Given the description of an element on the screen output the (x, y) to click on. 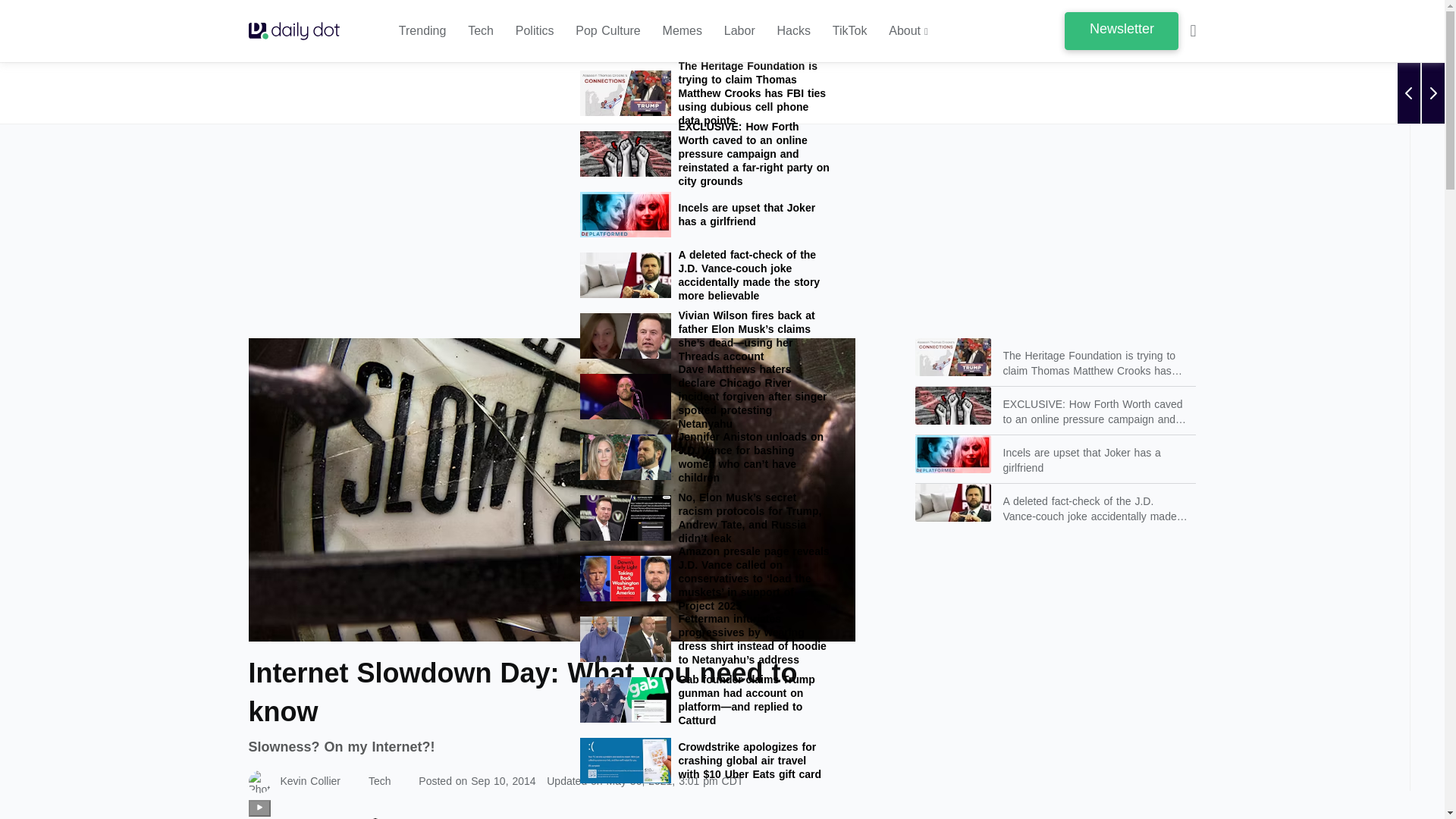
Labor (739, 31)
Politics (534, 31)
Hacks (793, 31)
Tech (480, 31)
Memes (681, 31)
Incels are upset that Joker has a girlfriend (704, 214)
Trending (422, 31)
Pop Culture (607, 31)
TikTok (849, 31)
Newsletter (1120, 30)
About (908, 31)
